Given the description of an element on the screen output the (x, y) to click on. 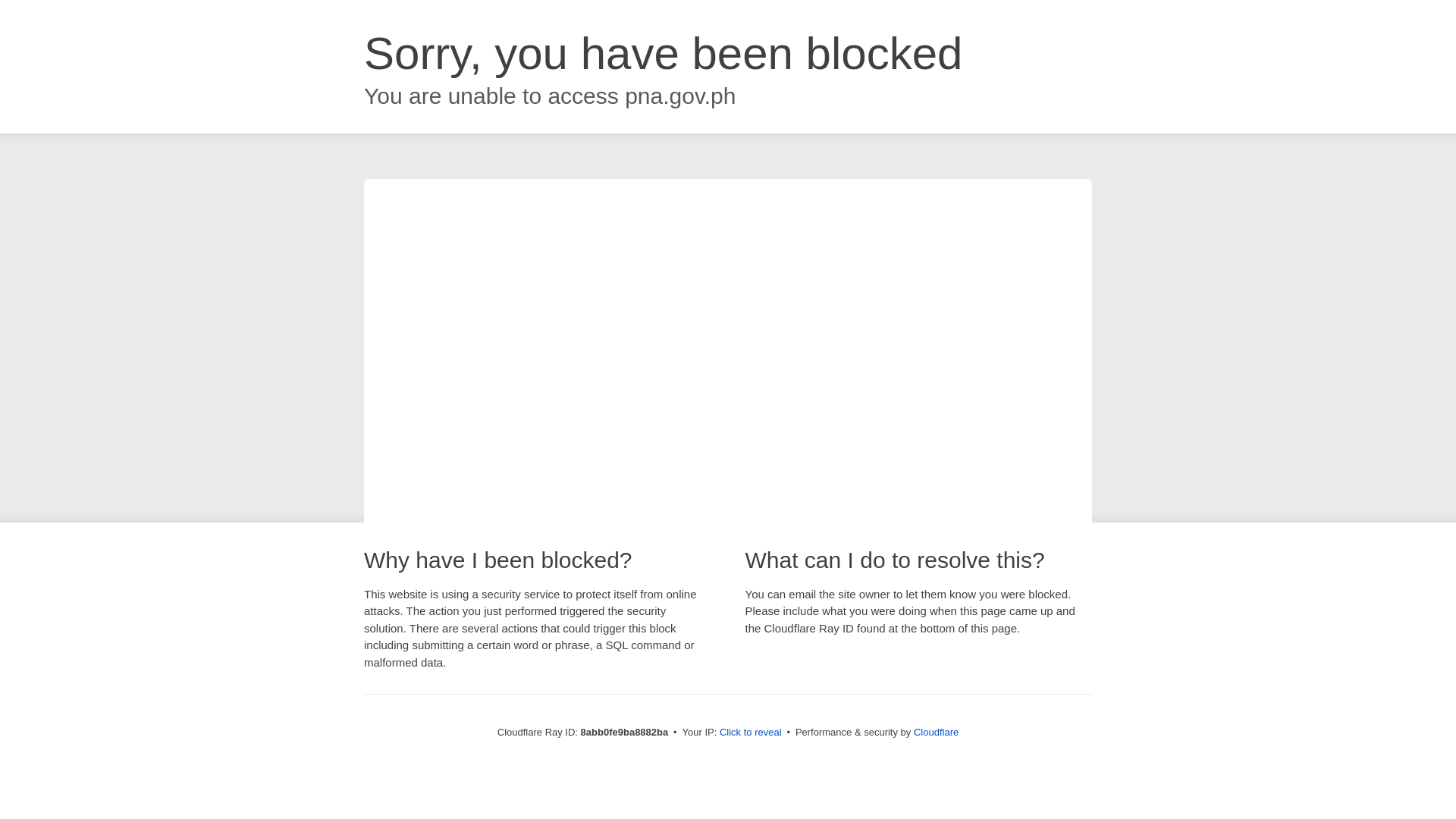
Cloudflare (936, 731)
Click to reveal (750, 732)
